Given the description of an element on the screen output the (x, y) to click on. 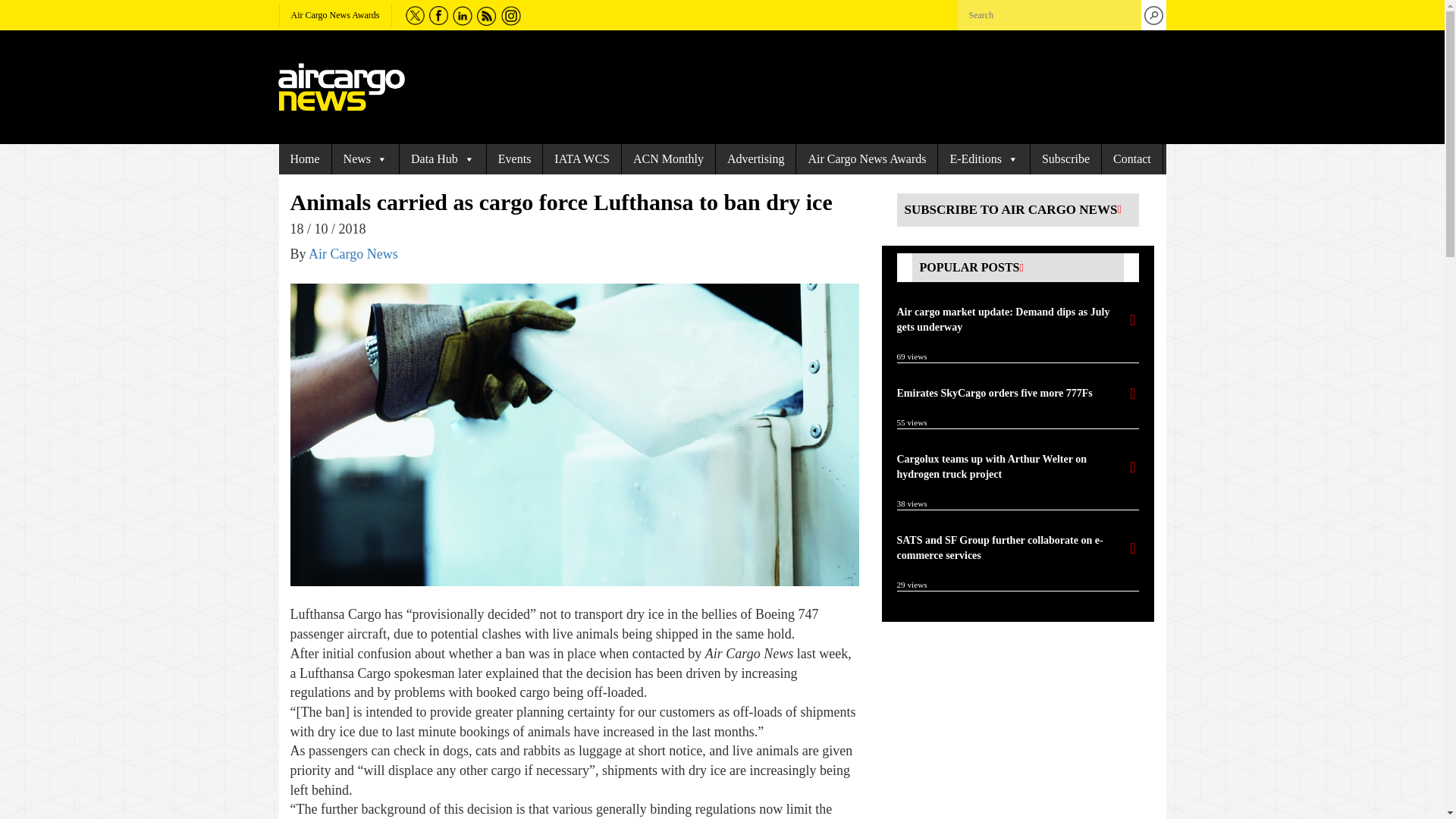
3rd party ad content (1010, 729)
Air Cargo News Awards (335, 14)
3rd party ad content (786, 87)
Home (305, 159)
News (364, 159)
